Given the description of an element on the screen output the (x, y) to click on. 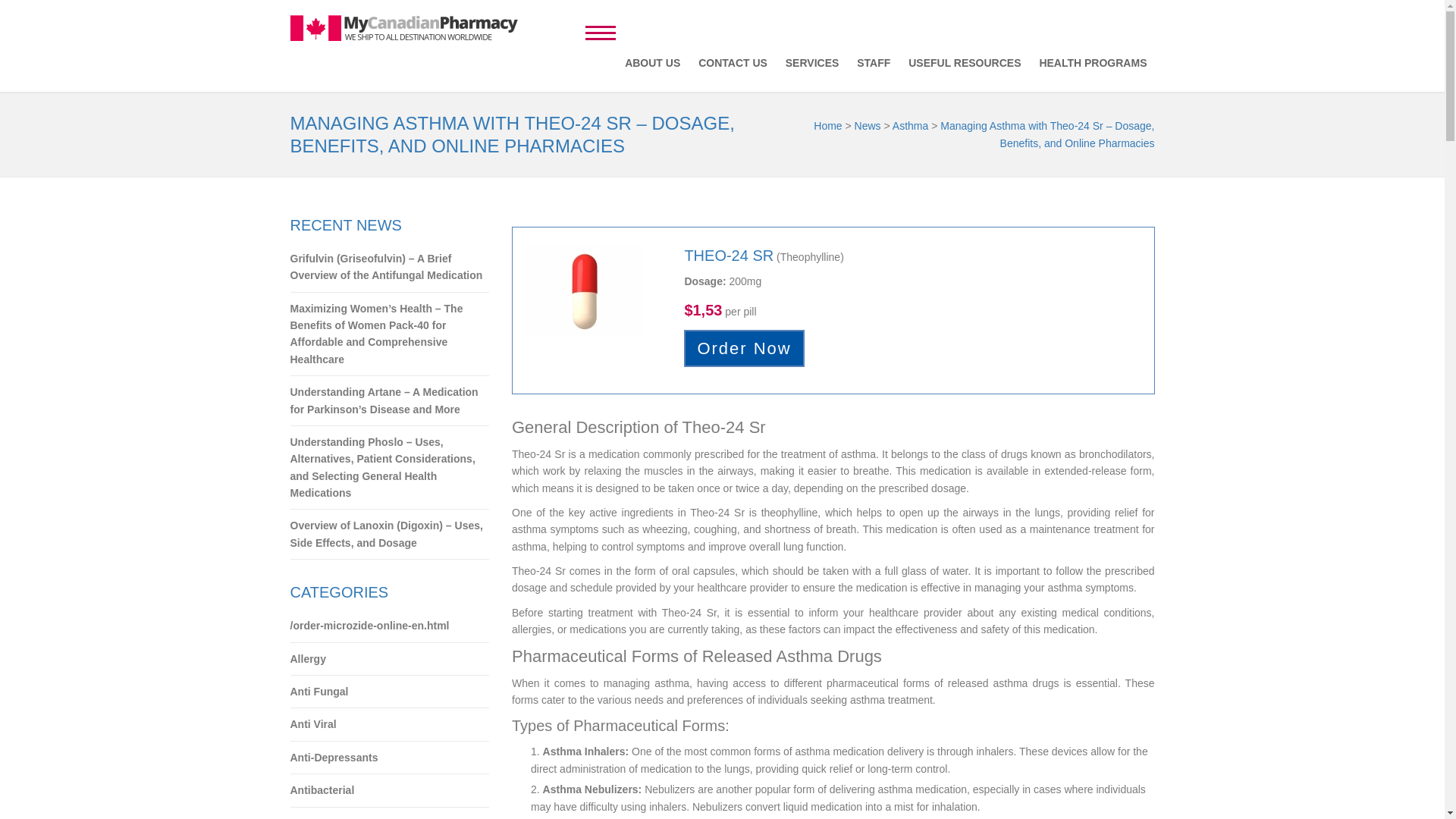
Antibiotics (389, 813)
News (867, 125)
HEALTH PROGRAMS (1092, 62)
Go to the Asthma category archives. (910, 125)
ABOUT US (652, 62)
Menu (600, 30)
Order Now (743, 348)
Allergy (389, 658)
Asthma (910, 125)
STAFF (873, 62)
Anti Fungal (389, 691)
SERVICES (812, 62)
Anti Viral (389, 724)
Home (827, 125)
Anti-Depressants (389, 757)
